Given the description of an element on the screen output the (x, y) to click on. 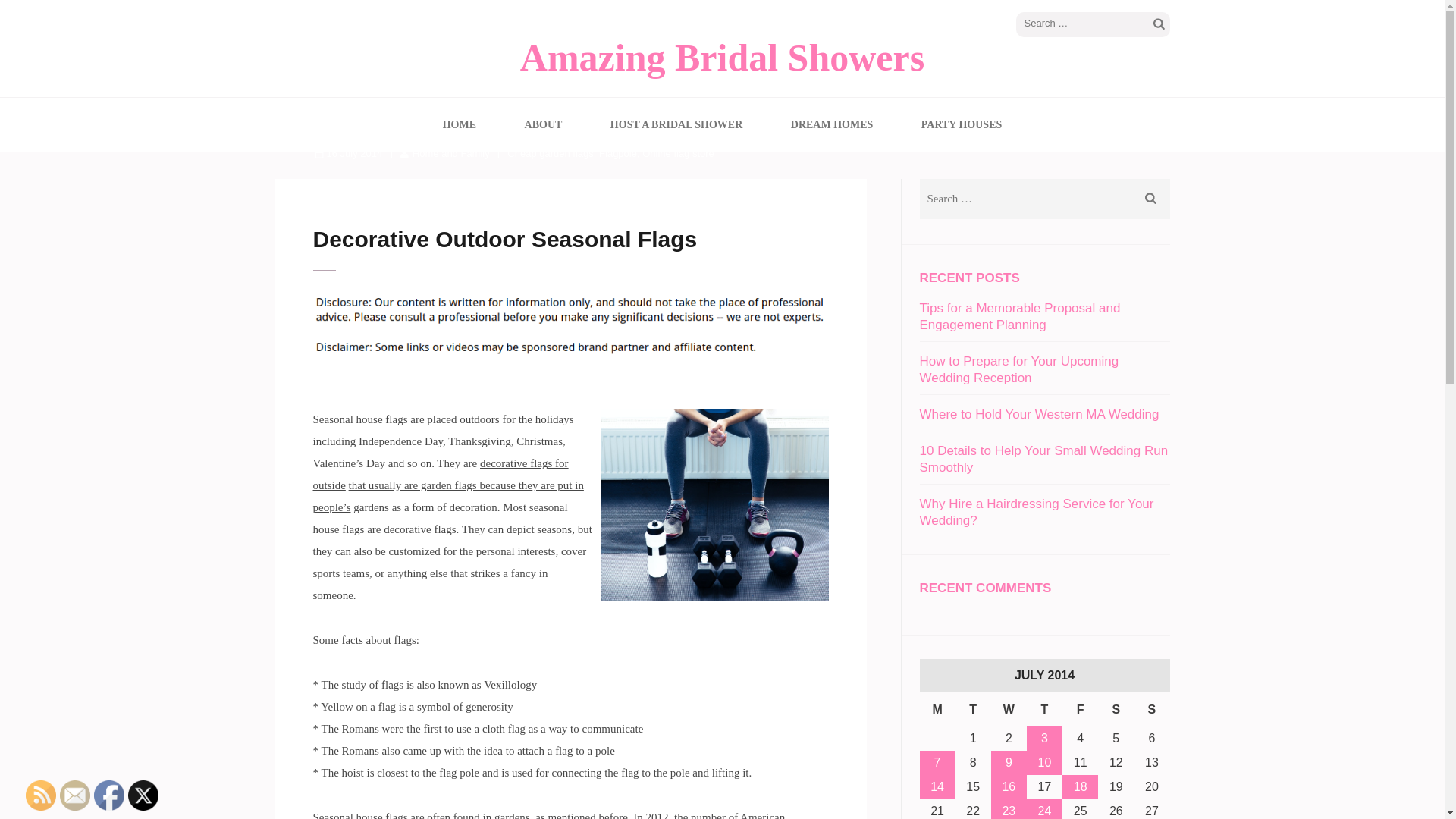
Thursday (1044, 709)
Why Hire a Hairdressing Service for Your Wedding? (1035, 511)
Where to Hold Your Western MA Wedding (1038, 414)
Wednesday (1008, 709)
RSS (41, 795)
Search (1150, 199)
Search (1158, 24)
Something great (440, 474)
DREAM HOMES (831, 124)
Search (1150, 199)
Amazing Bridal Showers (721, 56)
Follow by Email (74, 795)
PARTY HOUSES (961, 124)
Monday (936, 709)
Friday (1079, 709)
